Given the description of an element on the screen output the (x, y) to click on. 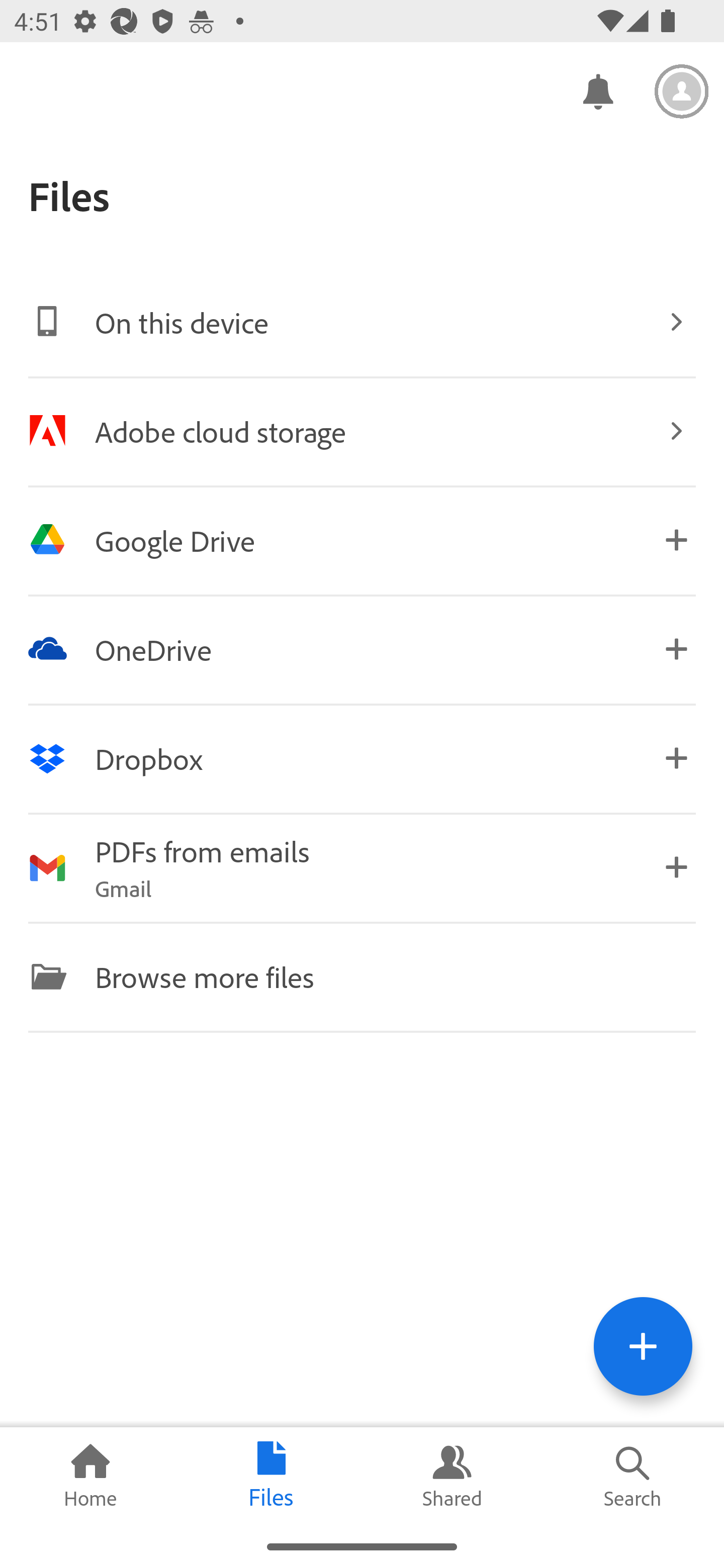
Notifications (597, 90)
Settings (681, 91)
Image On this device (362, 322)
Image Adobe cloud storage (362, 431)
Image Google Drive (362, 540)
Image OneDrive (362, 649)
Image Dropbox (362, 758)
Image PDFs from emails Gmail (362, 866)
Image Browse more files (362, 975)
Tools (642, 1345)
Home (90, 1475)
Files (271, 1475)
Shared (452, 1475)
Search (633, 1475)
